Given the description of an element on the screen output the (x, y) to click on. 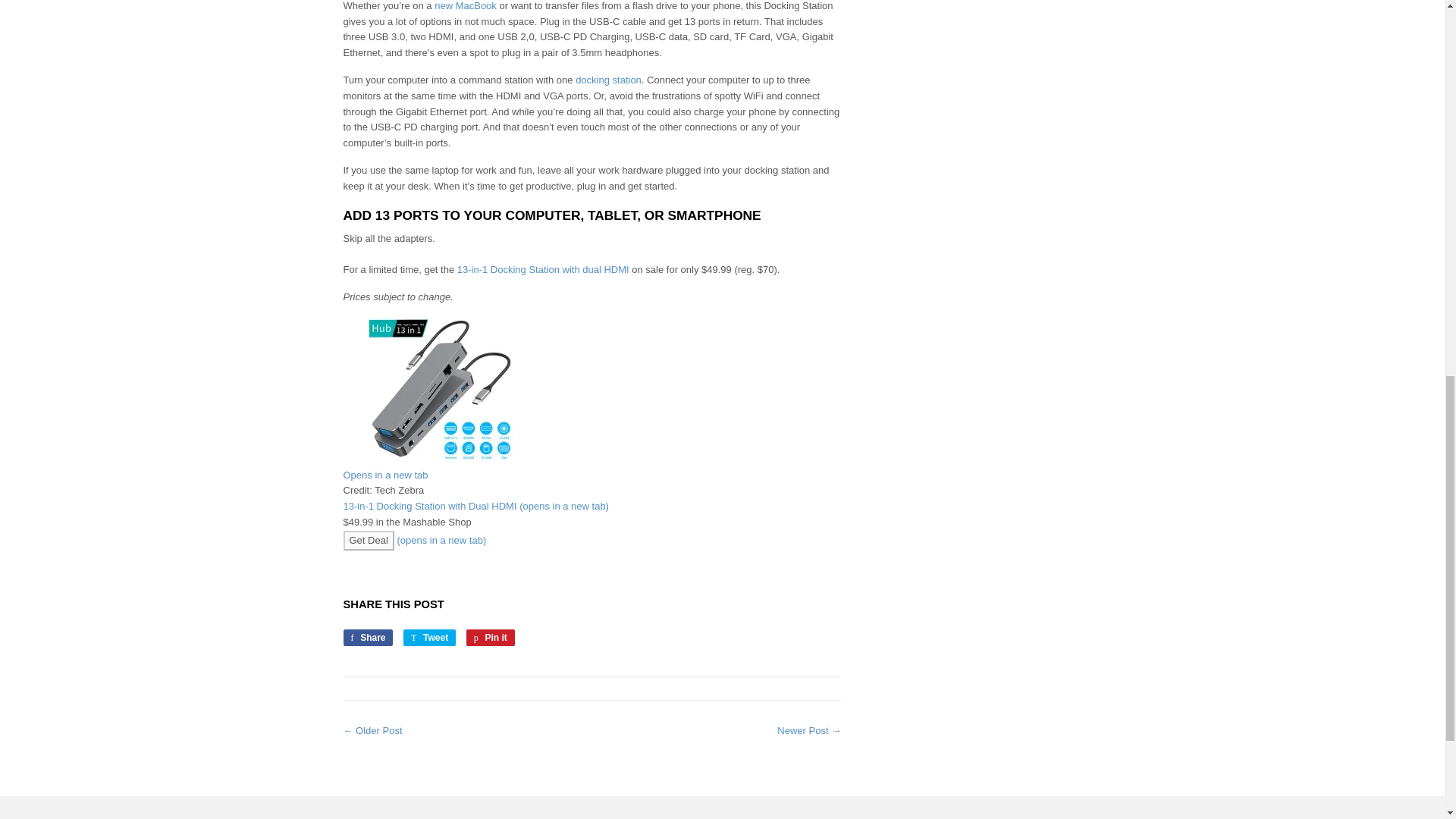
Tweet on Twitter (429, 637)
Pin on Pinterest (429, 637)
docking station (490, 637)
new MacBook (608, 79)
Opens in a new tab (464, 5)
Get Deal (591, 468)
13-in-1 Docking Station with dual HDMI (367, 540)
Share on Facebook (367, 637)
